Given the description of an element on the screen output the (x, y) to click on. 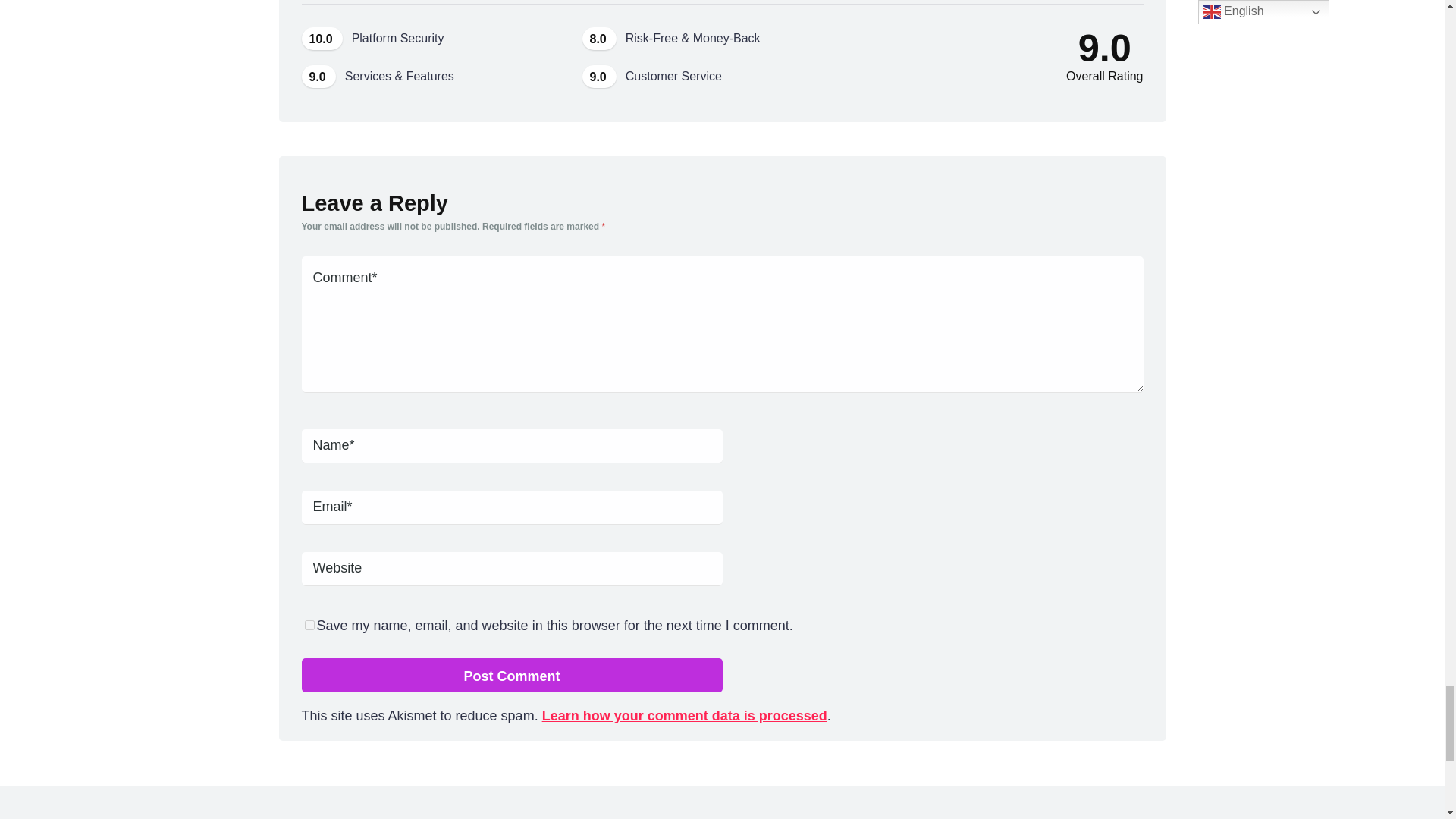
Learn how your comment data is processed (684, 715)
yes (309, 624)
Post Comment (511, 675)
Post Comment (511, 675)
